Given the description of an element on the screen output the (x, y) to click on. 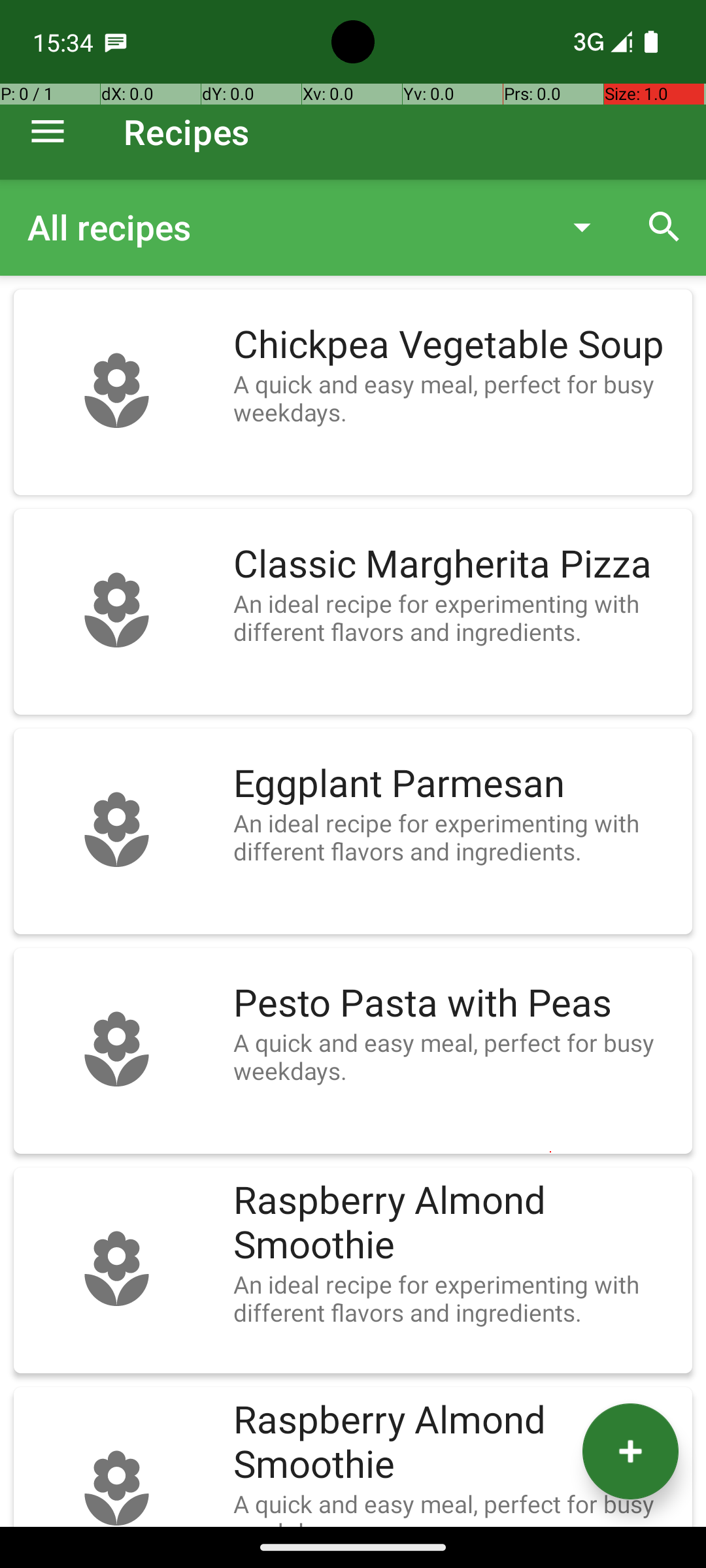
Pesto Pasta with Peas Element type: android.widget.TextView (455, 1003)
Raspberry Almond Smoothie Element type: android.widget.TextView (455, 1222)
